Given the description of an element on the screen output the (x, y) to click on. 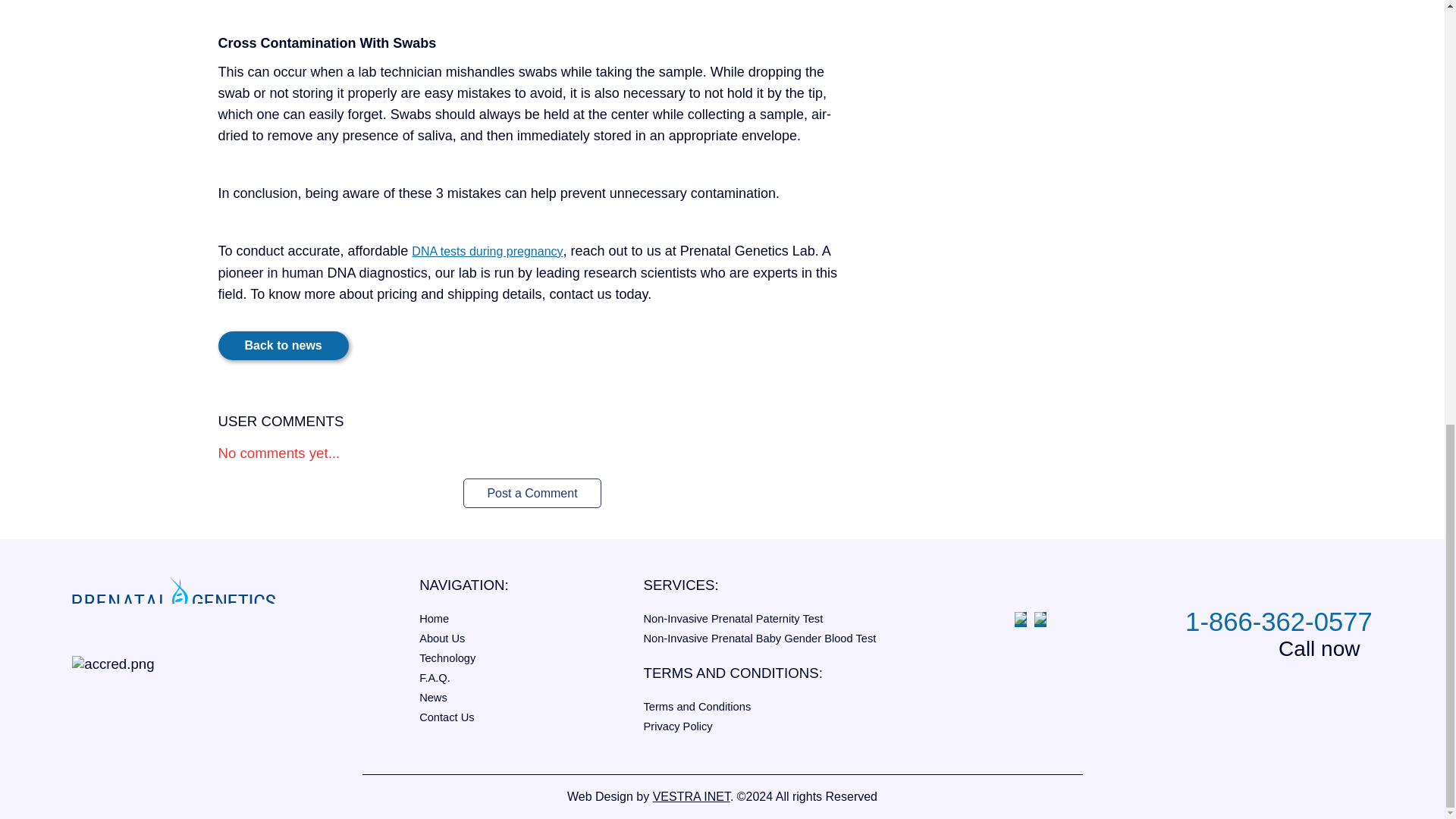
DNA tests during pregnancy (487, 250)
Post a Comment (531, 492)
Vestra Inet - SEO Toronto (691, 796)
Back to news (283, 345)
